Given the description of an element on the screen output the (x, y) to click on. 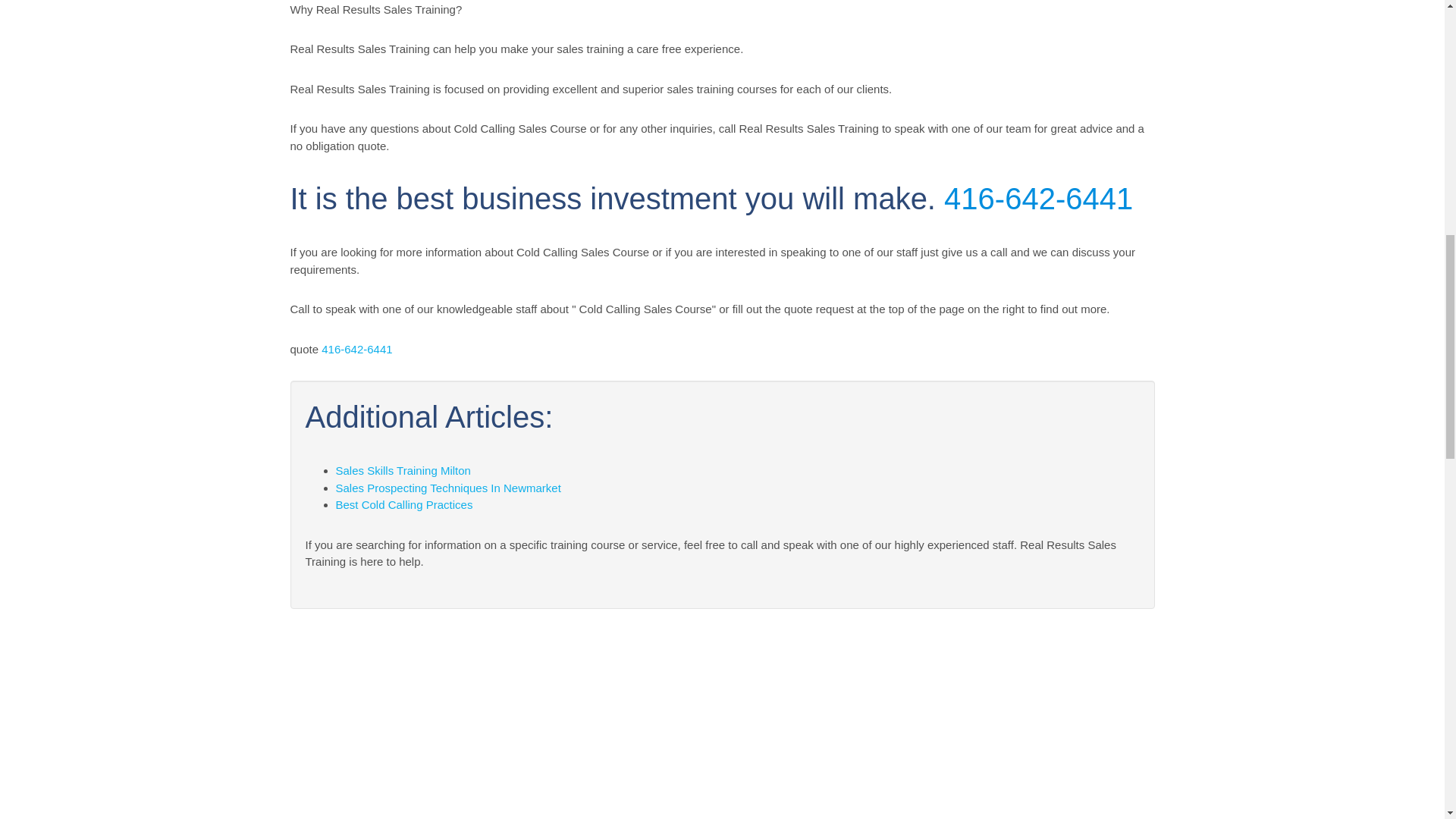
416-642-6441 (356, 349)
416-642-6441 (1037, 198)
Sales Skills Training Milton (402, 470)
Best Cold Calling Practices  (402, 504)
Sales Prospecting Techniques In Newmarket (447, 487)
Sales Skills Training Milton (402, 470)
